Given the description of an element on the screen output the (x, y) to click on. 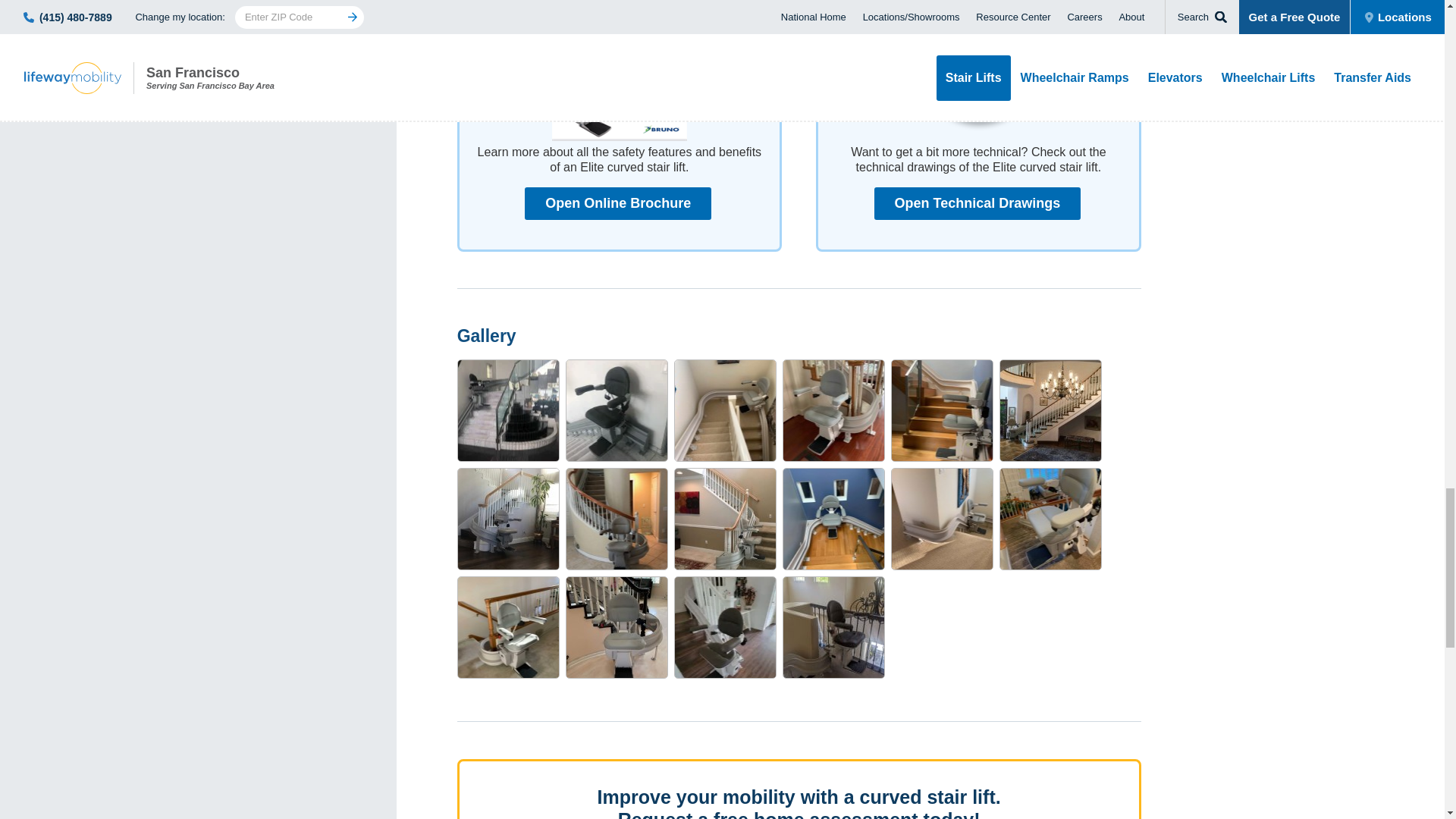
curved-stairlift-installed-in-Oakland-California.JPG (834, 518)
curved-stairlift-at-basement-level-of-home-in-Oakland-CA.JPG (941, 410)
Lifeway-Bruno Elite Curved Stair Lift Brochure (617, 203)
curved-stairlift-in-San-Jose-CA-by-Lifeway-Mobility.JPG (617, 518)
curved-stairlift-with-rail-overrun-in-San-Francisco-home.JPG (941, 518)
